Given the description of an element on the screen output the (x, y) to click on. 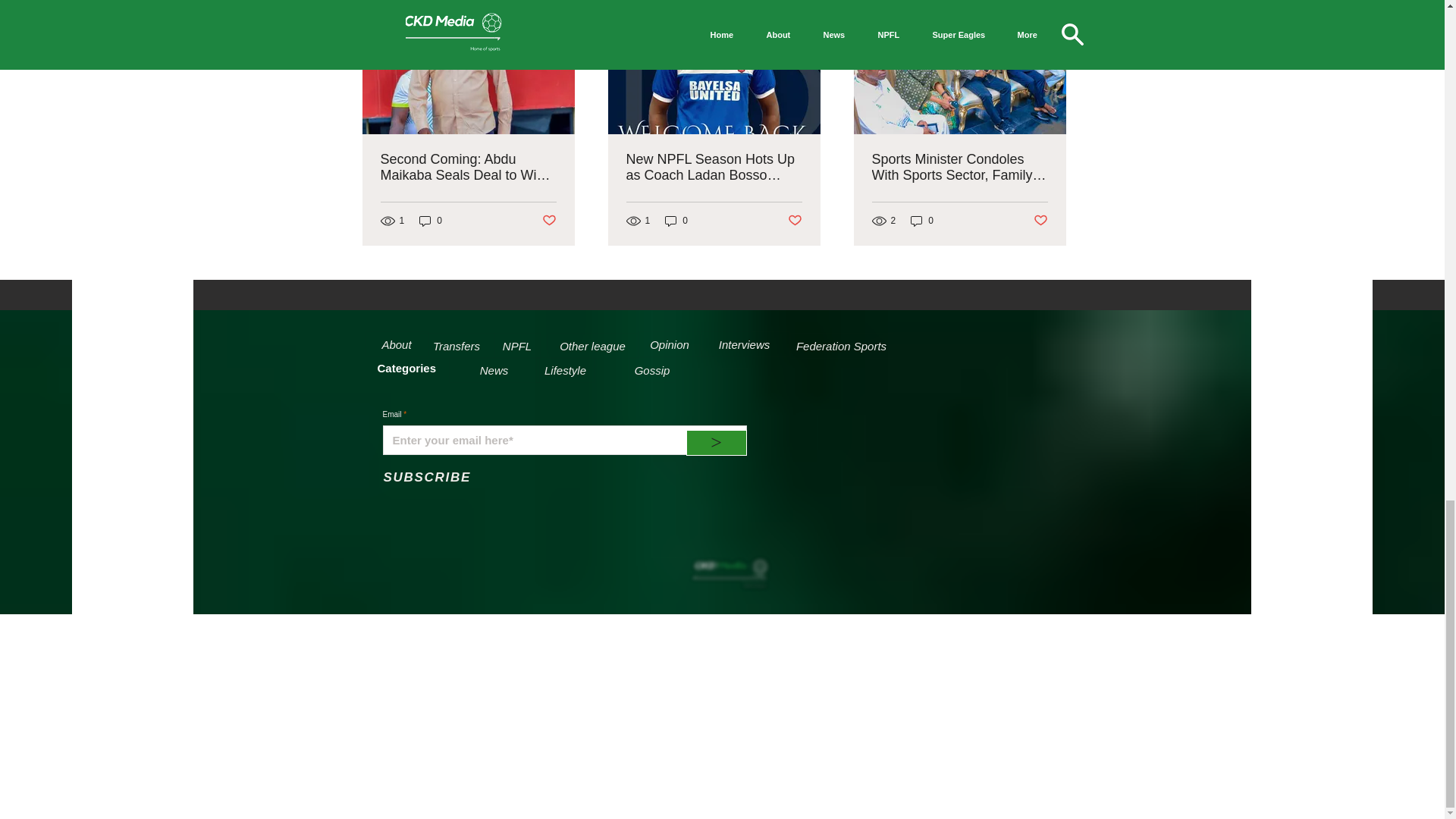
Post not marked as liked (548, 220)
0 (675, 219)
Post not marked as liked (794, 220)
Second Coming: Abdu Maikaba Seals Deal to Wikki Tourist (468, 167)
0 (430, 219)
